Given the description of an element on the screen output the (x, y) to click on. 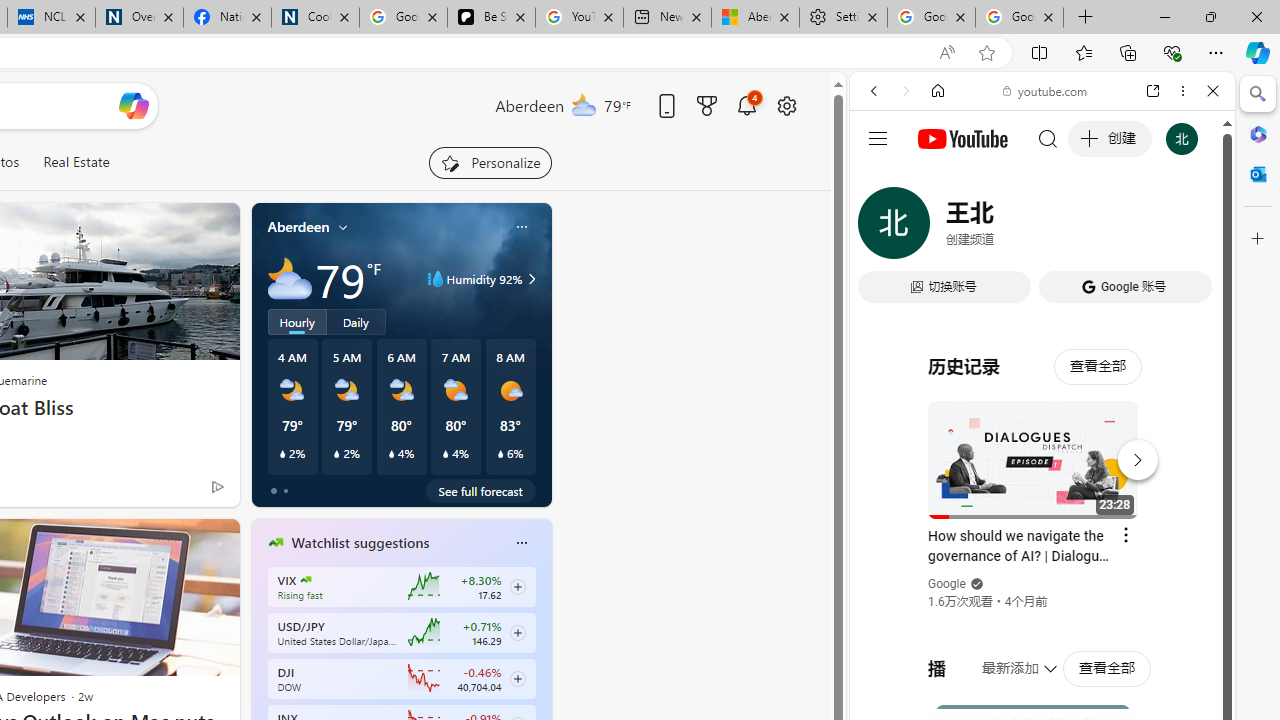
Music (1042, 543)
Home (938, 91)
Mostly cloudy (289, 278)
My location (343, 227)
Search the web (1051, 137)
Mostly cloudy (289, 278)
This story is trending (178, 490)
Search Filter, IMAGES (939, 228)
next (541, 670)
Global web icon (888, 288)
